Given the description of an element on the screen output the (x, y) to click on. 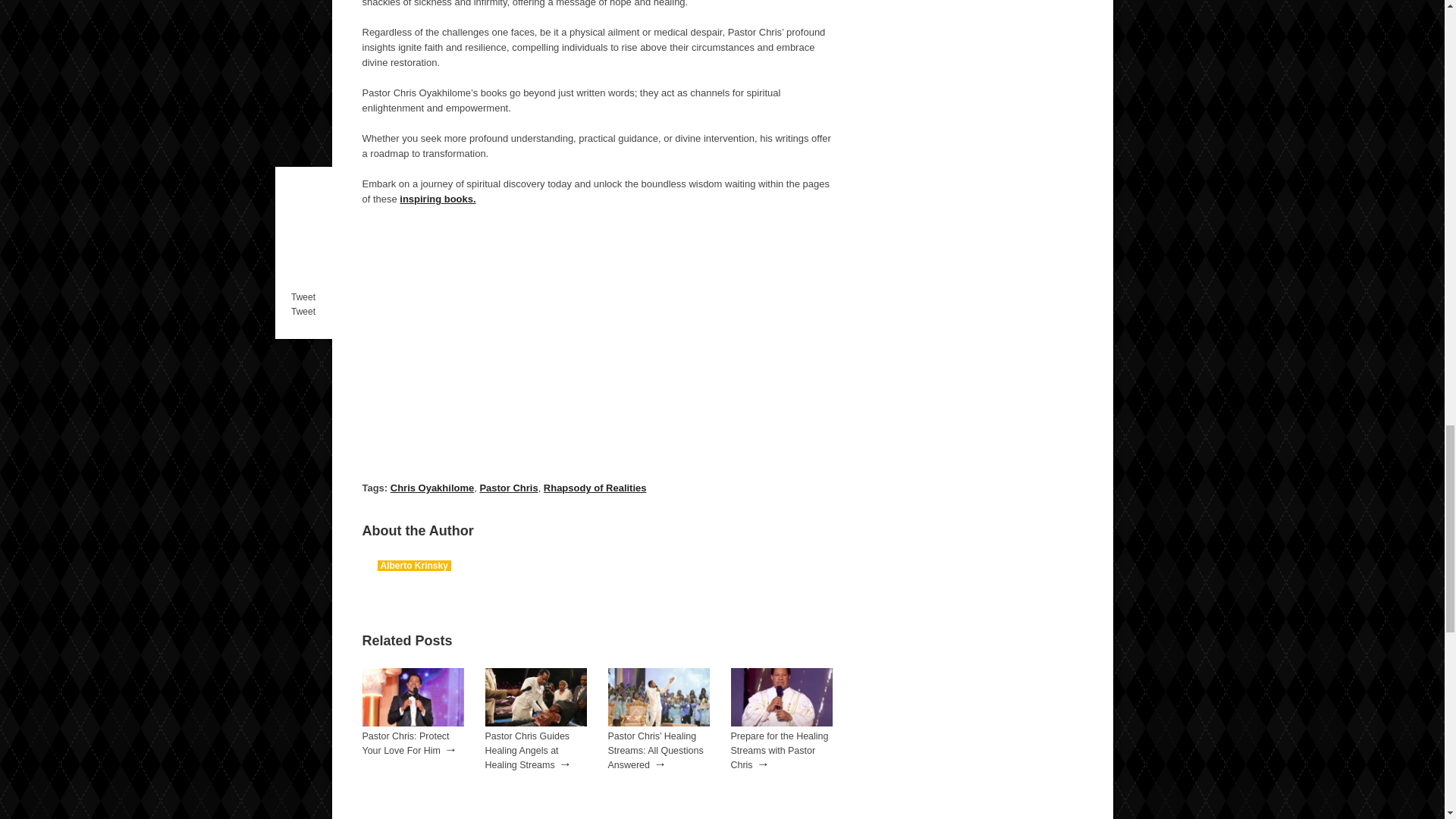
Chris Oyakhilome (432, 487)
inspiring books. (437, 198)
Prepare for the Healing Streams with Pastor Chris (779, 750)
Pastor Chris Guides Healing Angels at Healing Streams (535, 723)
Pastor Chris: Protect Your Love For Him (413, 723)
Prepare for the Healing Streams with Pastor Chris (781, 723)
Posts by Alberto Krinsky (414, 565)
Pastor Chris Guides Healing Angels at Healing Streams (527, 750)
Pastor Chris Guides Healing Angels at Healing Streams (527, 750)
Alberto Krinsky (414, 565)
Prepare for the Healing Streams with Pastor Chris (779, 750)
Pastor Chris (508, 487)
Pastor Chris: Protect Your Love For Him (405, 743)
Rhapsody of Realities (594, 487)
Pastor Chris: Protect Your Love For Him (405, 743)
